Given the description of an element on the screen output the (x, y) to click on. 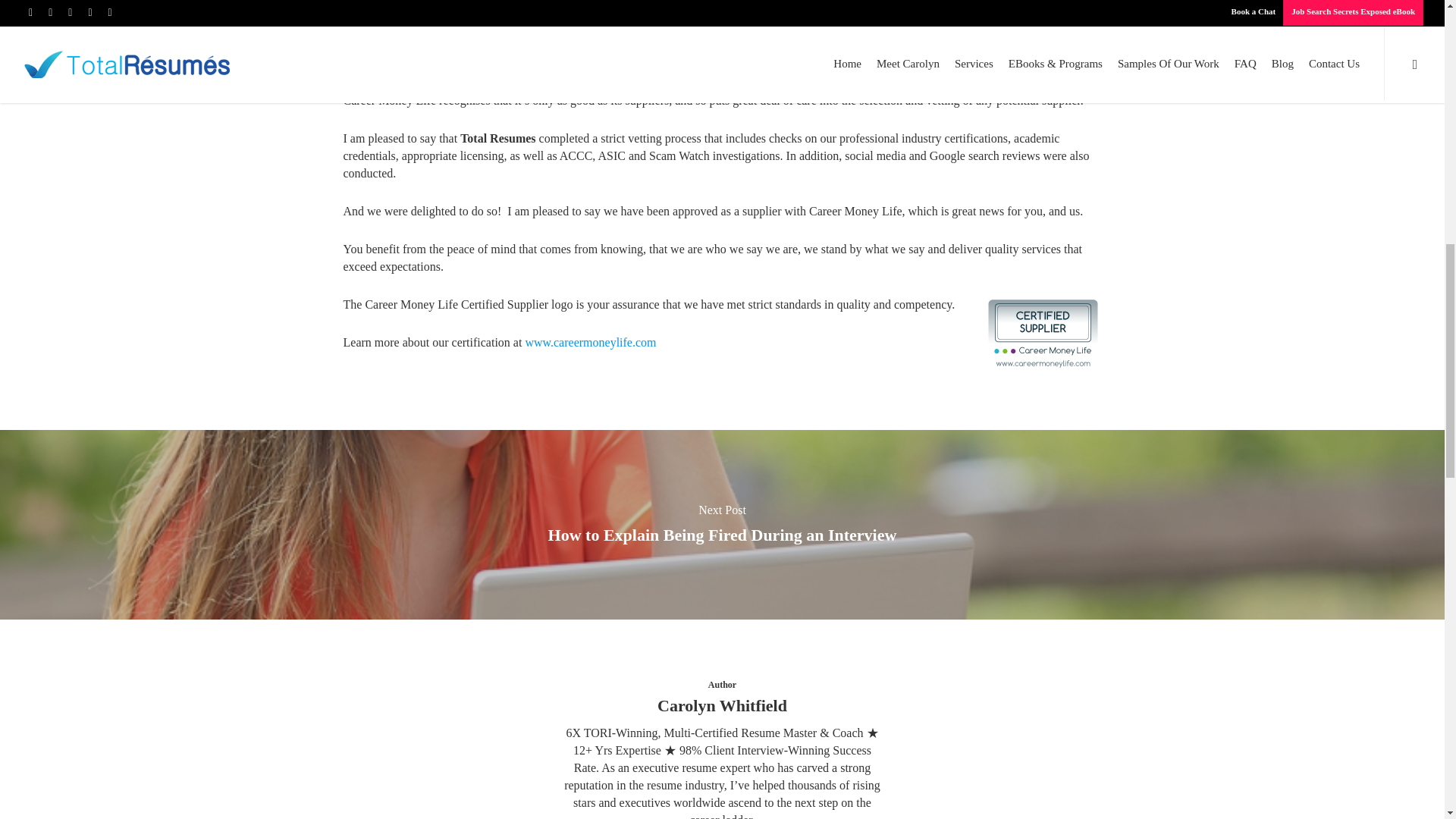
How to Explain Being Fired During an Interview (722, 534)
www.careermoneylife.com (590, 341)
